Given the description of an element on the screen output the (x, y) to click on. 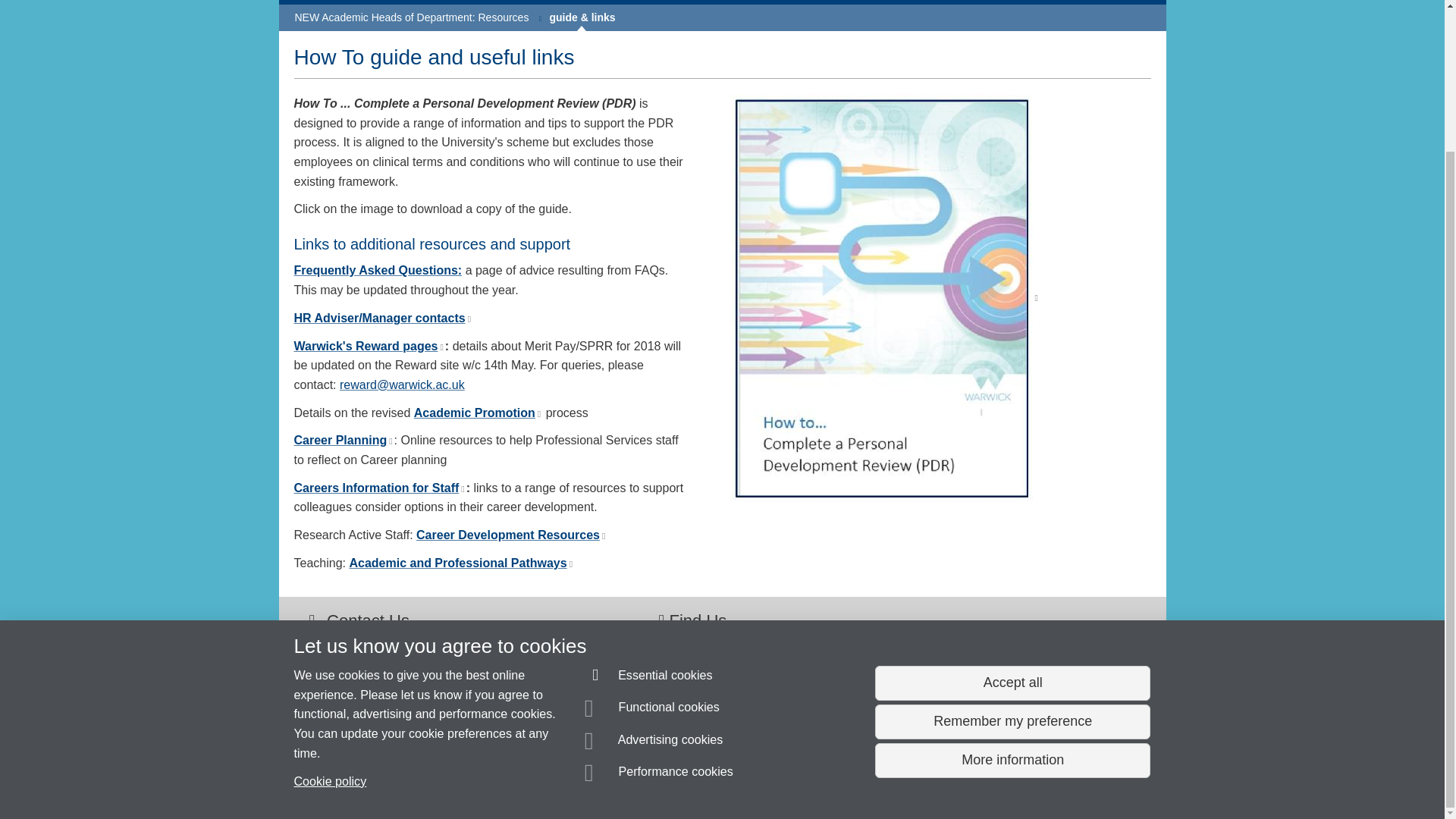
Information about cookies (467, 780)
on (477, 412)
More information about SiteBuilder (369, 345)
Frequently Asked Questions: (365, 780)
true (411, 17)
Send an email to Leadership and Management Development (378, 269)
